Given the description of an element on the screen output the (x, y) to click on. 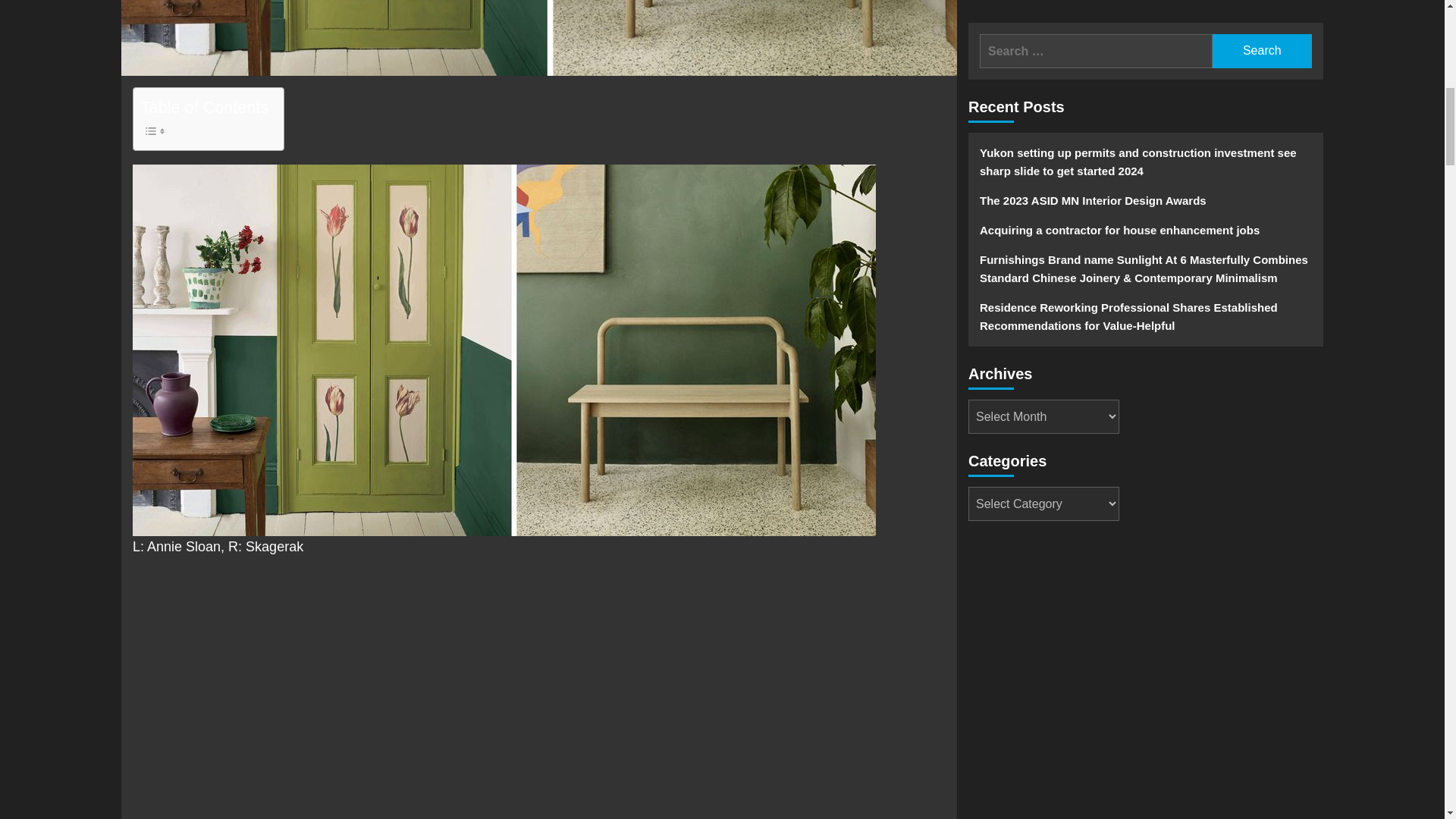
5 approaches to style your house a lot more sustainably (538, 38)
